Given the description of an element on the screen output the (x, y) to click on. 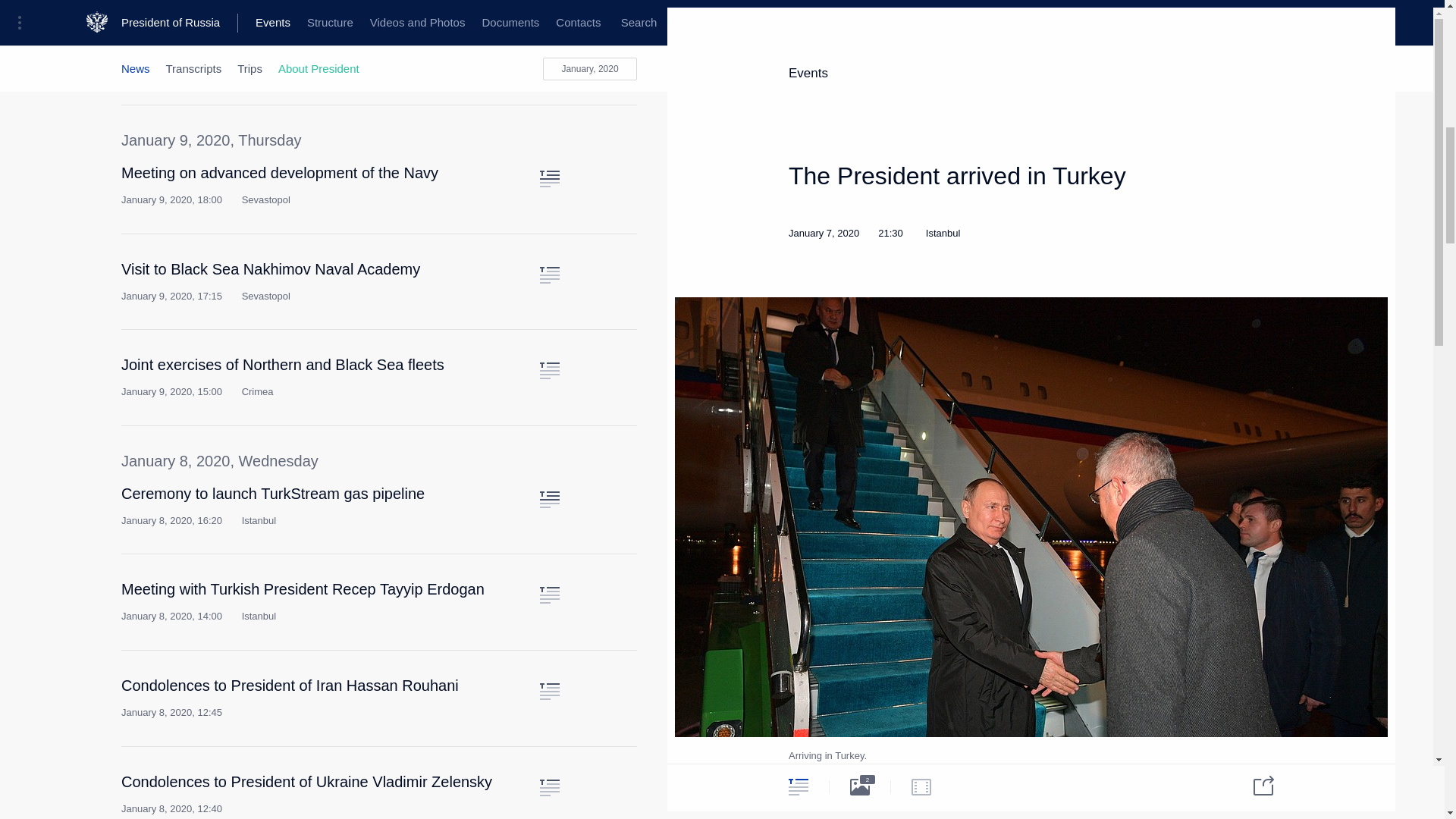
Text of the article (549, 30)
Text of the article (549, 691)
Text of the article (549, 595)
Text of the article (549, 370)
Text of the article (549, 178)
Text of the article (549, 787)
